Given the description of an element on the screen output the (x, y) to click on. 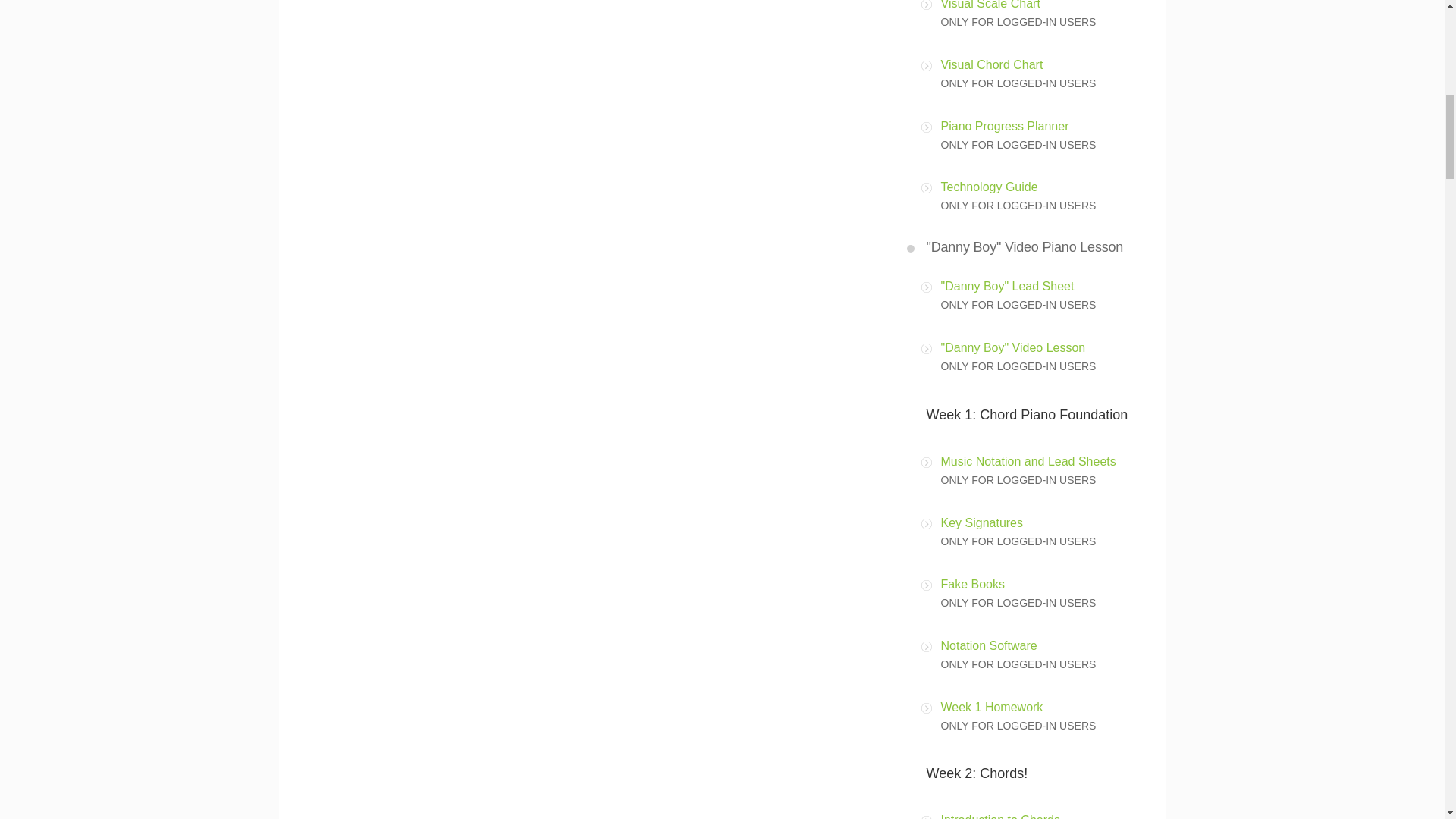
Week 1 Homework (991, 707)
Key Signatures (981, 522)
Introduction to Chords (999, 816)
Fake Books (972, 584)
Piano Progress Planner (1004, 125)
Visual Chord Chart (991, 64)
"Danny Boy" Video Lesson (1012, 347)
Visual Scale Chart (989, 4)
"Danny Boy" Lead Sheet (1007, 286)
Notation Software (988, 645)
